Given the description of an element on the screen output the (x, y) to click on. 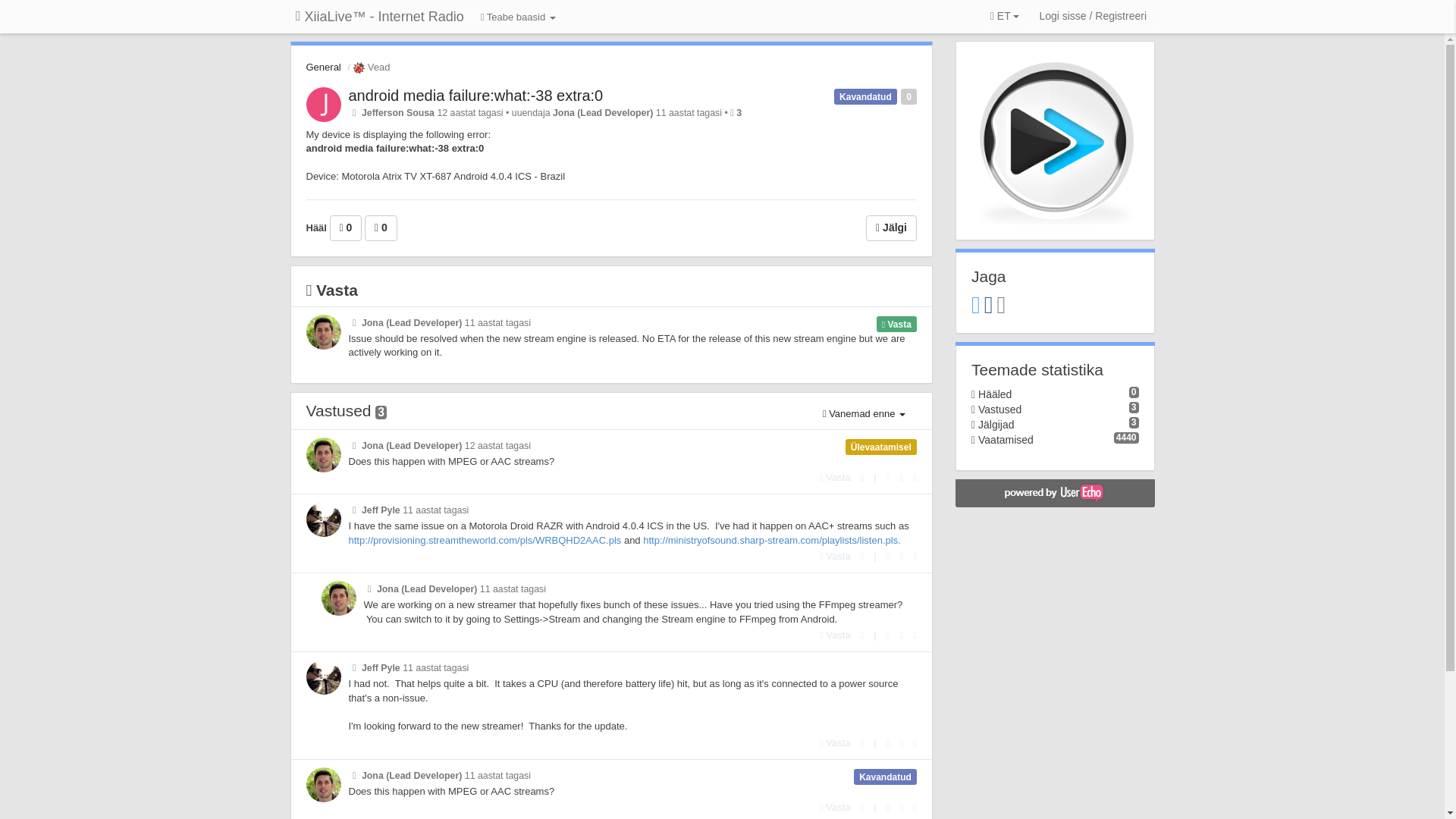
General (322, 66)
Vead (370, 66)
Jefferson Sousa (397, 112)
Teabe baasid (518, 17)
android media failure:what:-38 extra:0 (476, 95)
ET (1005, 16)
